Given the description of an element on the screen output the (x, y) to click on. 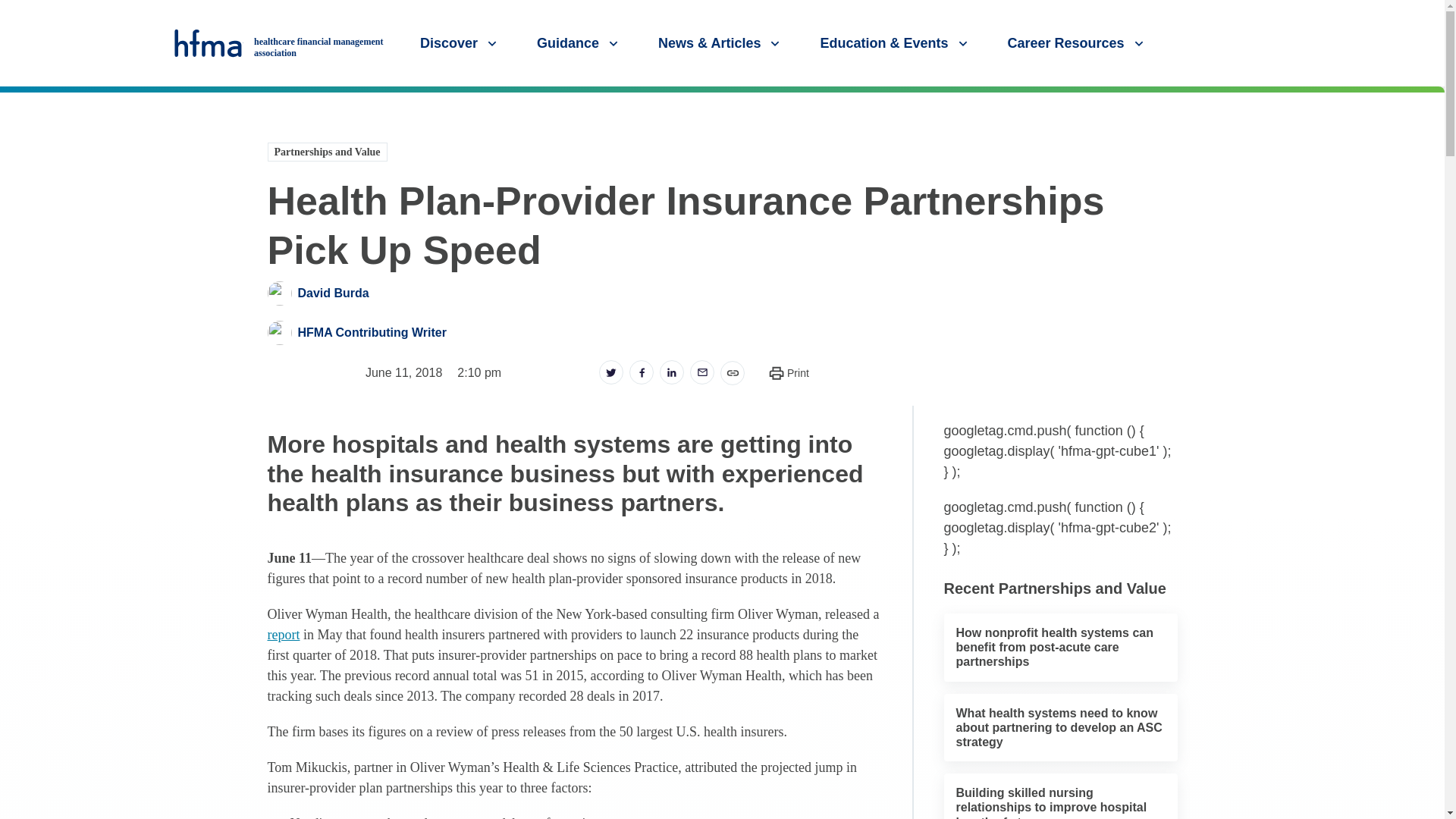
Career Resources (1077, 42)
Submit (1427, 101)
Guidance (579, 42)
Click to share on LinkedIn (671, 372)
Click to email a link to a friend (702, 372)
Click to share on Facebook (640, 372)
Discover (460, 42)
Click to share on Twitter (610, 372)
